Given the description of an element on the screen output the (x, y) to click on. 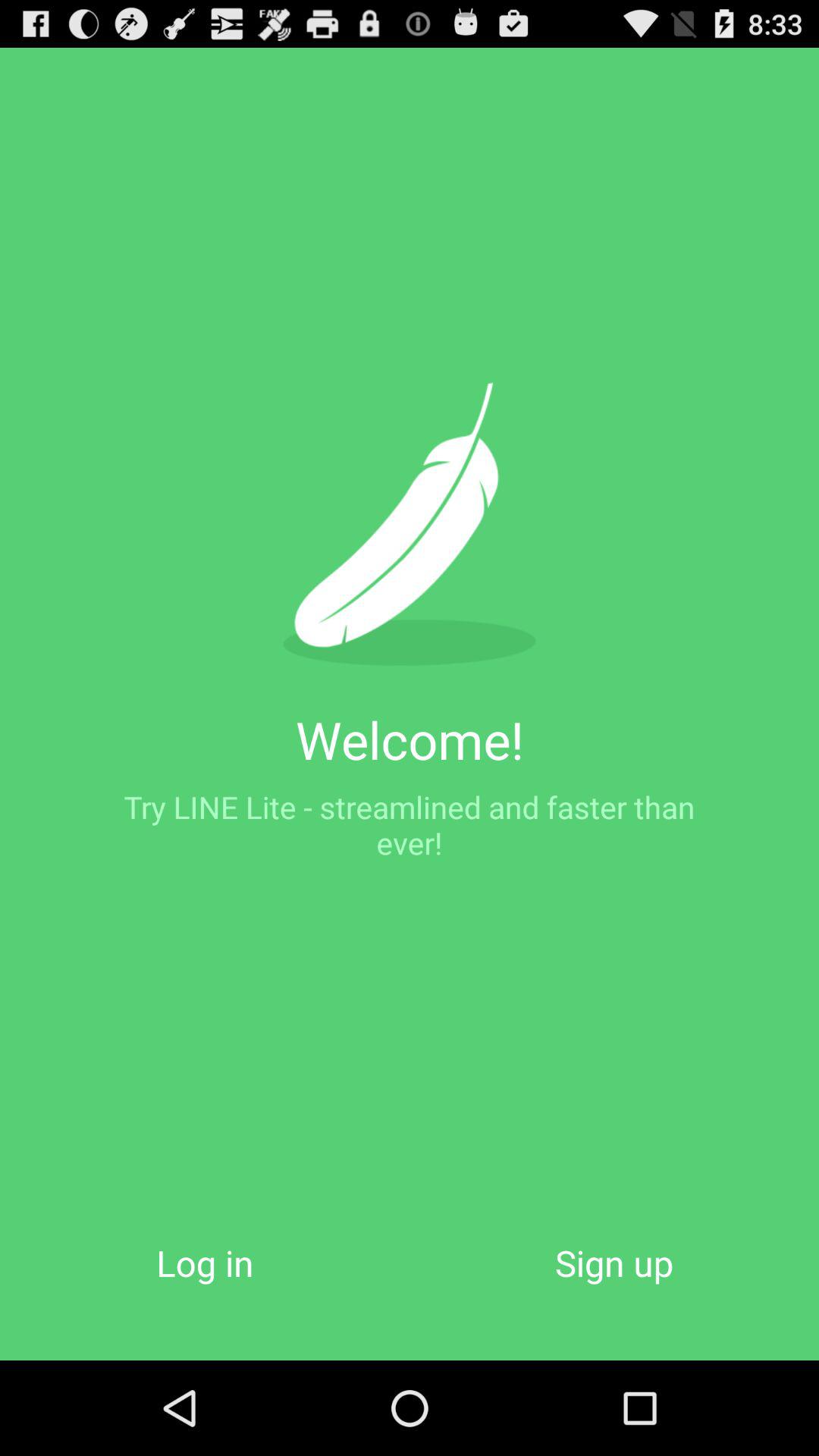
turn off the item to the right of log in button (614, 1262)
